Given the description of an element on the screen output the (x, y) to click on. 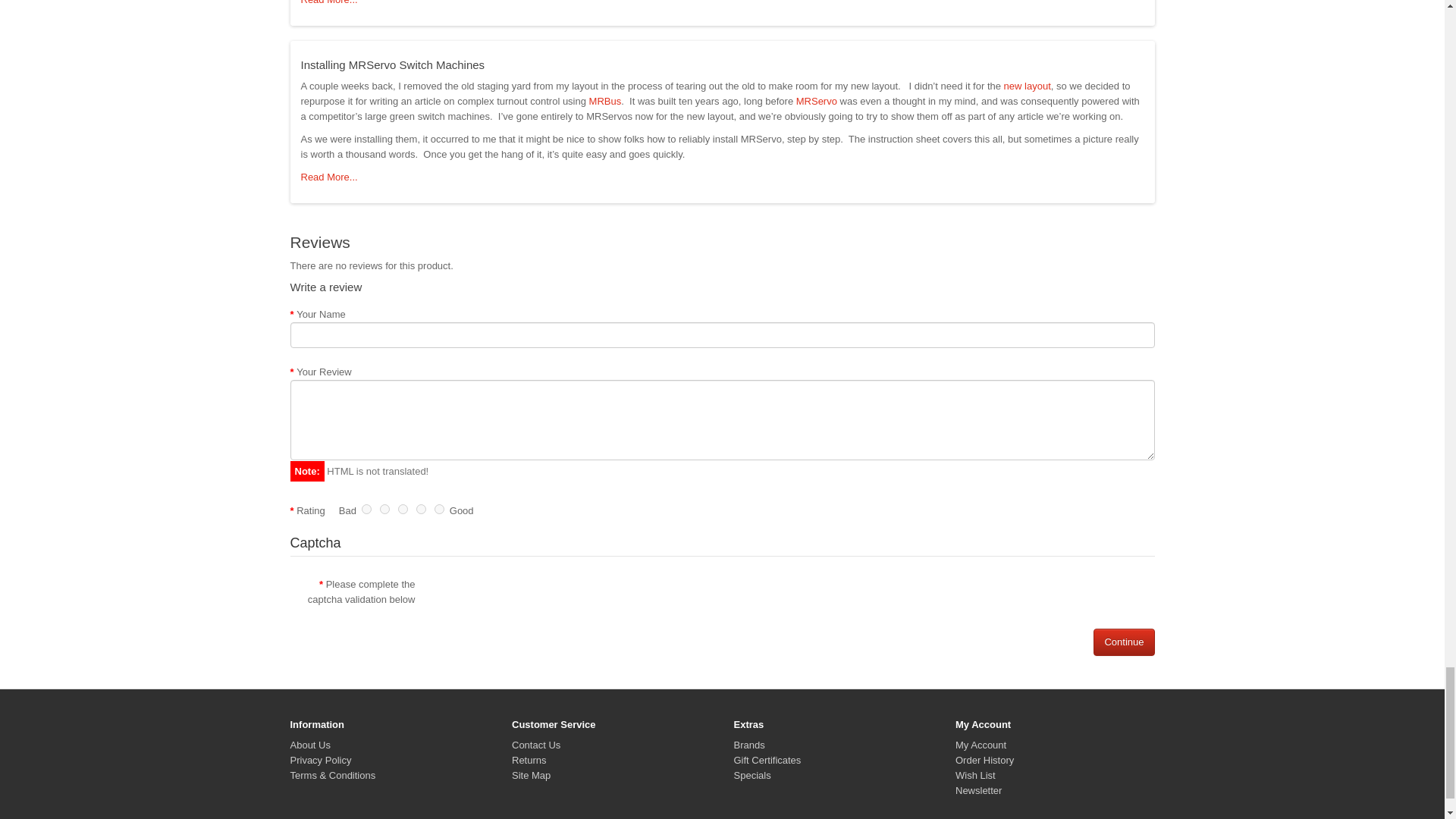
5 (438, 509)
4 (421, 509)
3 (402, 509)
1 (366, 509)
2 (385, 509)
